Given the description of an element on the screen output the (x, y) to click on. 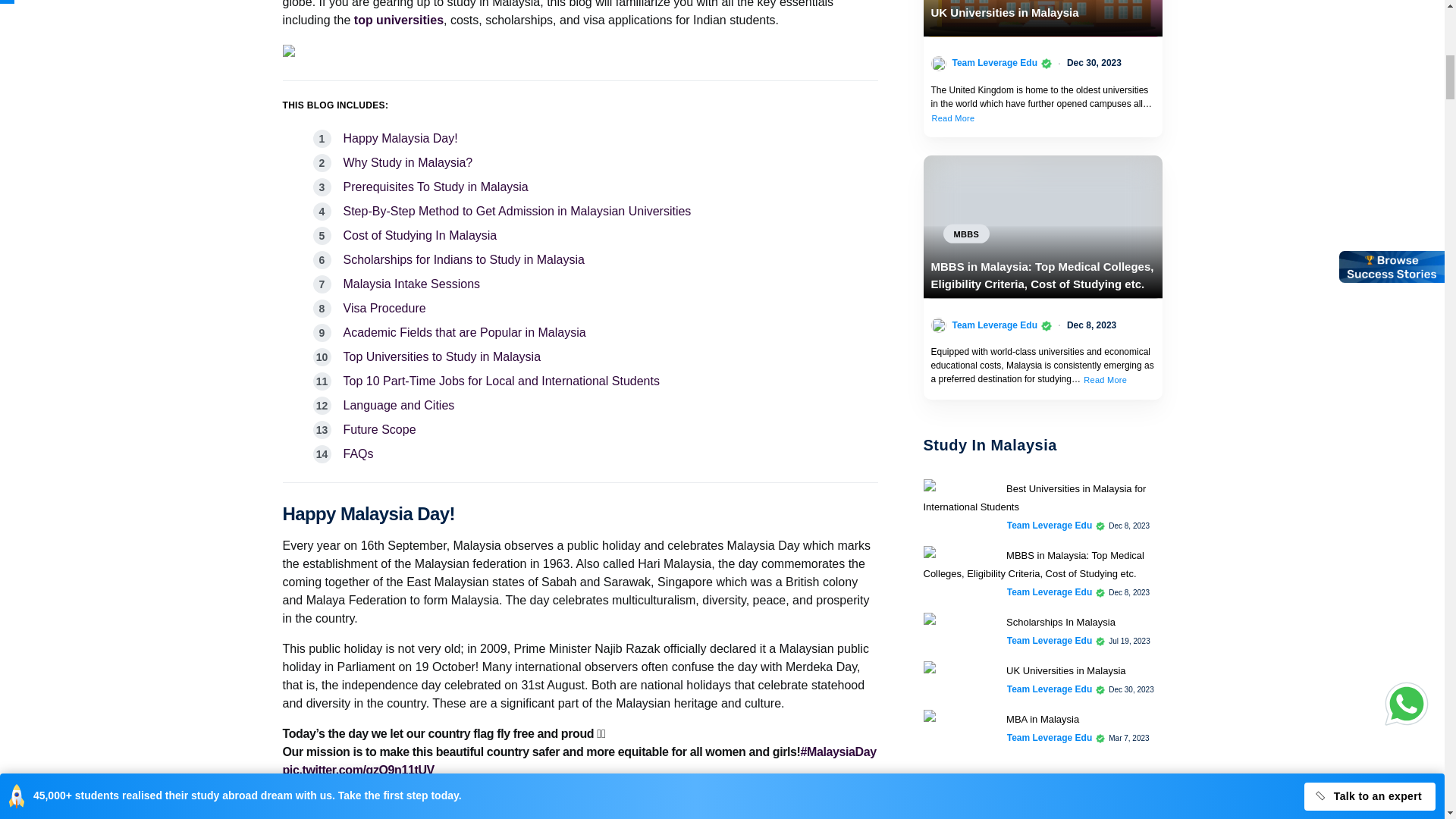
View all posts by Team Leverage Edu (1050, 591)
View all posts by Team Leverage Edu (1050, 689)
View all posts by Team Leverage Edu (1050, 737)
View all posts by Team Leverage Edu (995, 62)
View all posts by Team Leverage Edu (1050, 640)
View all posts by Team Leverage Edu (995, 325)
View all posts by Team Leverage Edu (1050, 525)
